Given the description of an element on the screen output the (x, y) to click on. 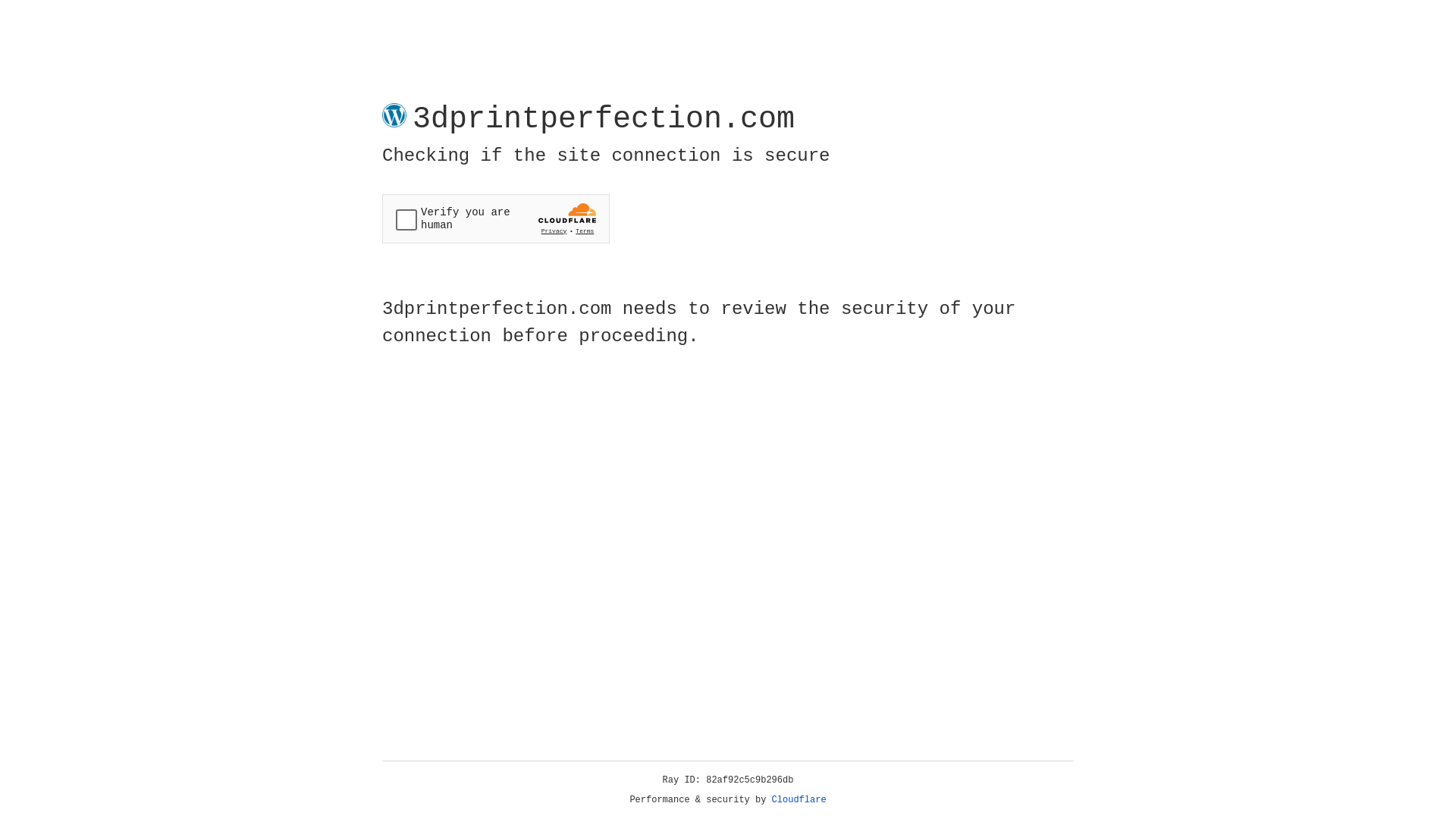
Cloudflare Element type: text (798, 799)
Widget containing a Cloudflare security challenge Element type: hover (495, 218)
